Given the description of an element on the screen output the (x, y) to click on. 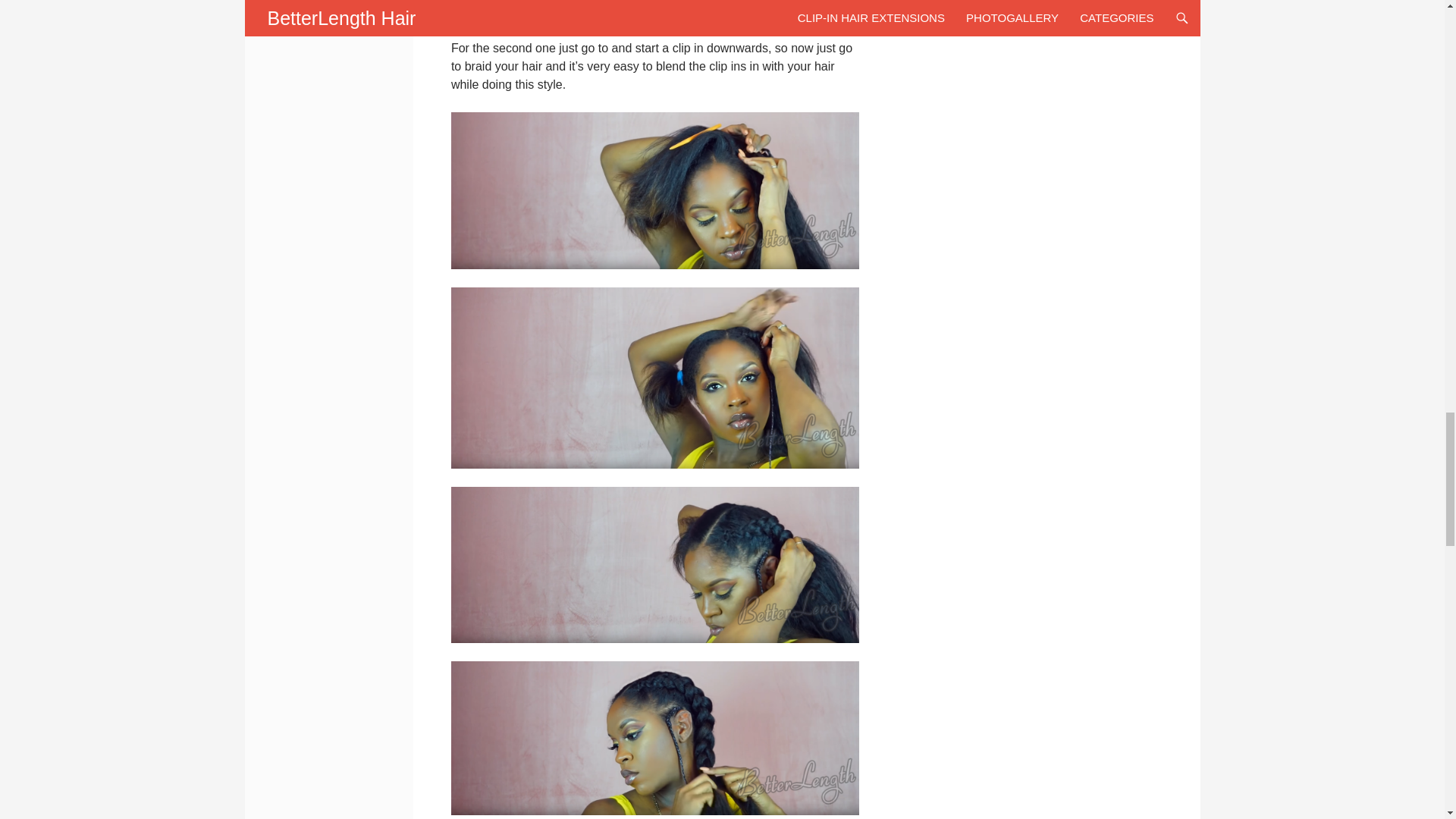
How to Turn 2 Simple Braids Into A Stunning Hairstyle (655, 377)
How to Turn 2 Simple Braids Into A Stunning Hairstyle (655, 737)
How to Turn 2 Simple Braids Into A Stunning Hairstyle (655, 191)
How to Turn 2 Simple Braids Into A Stunning Hairstyle (655, 564)
